Given the description of an element on the screen output the (x, y) to click on. 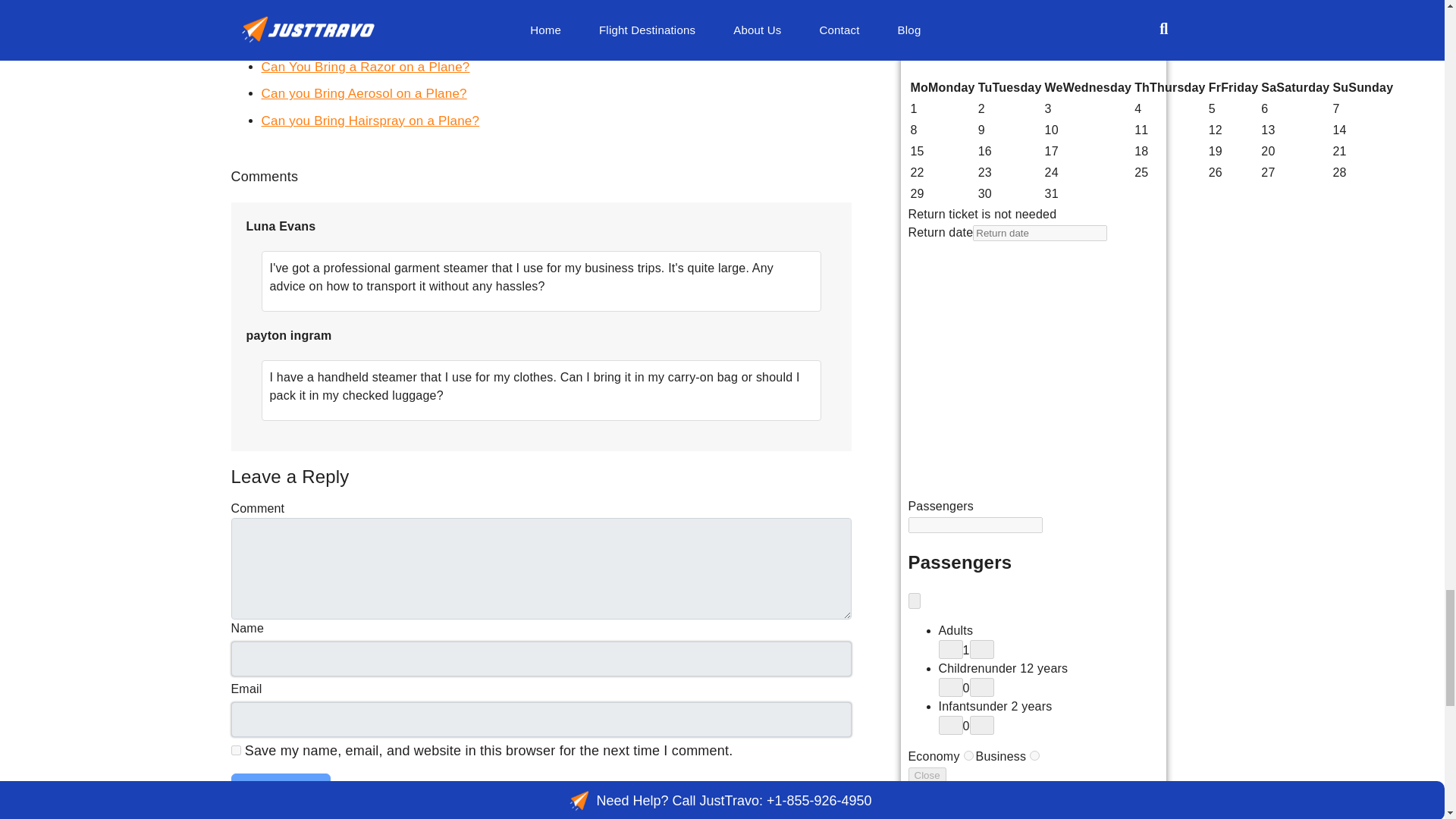
Post Comment (280, 787)
yes (235, 750)
